Given the description of an element on the screen output the (x, y) to click on. 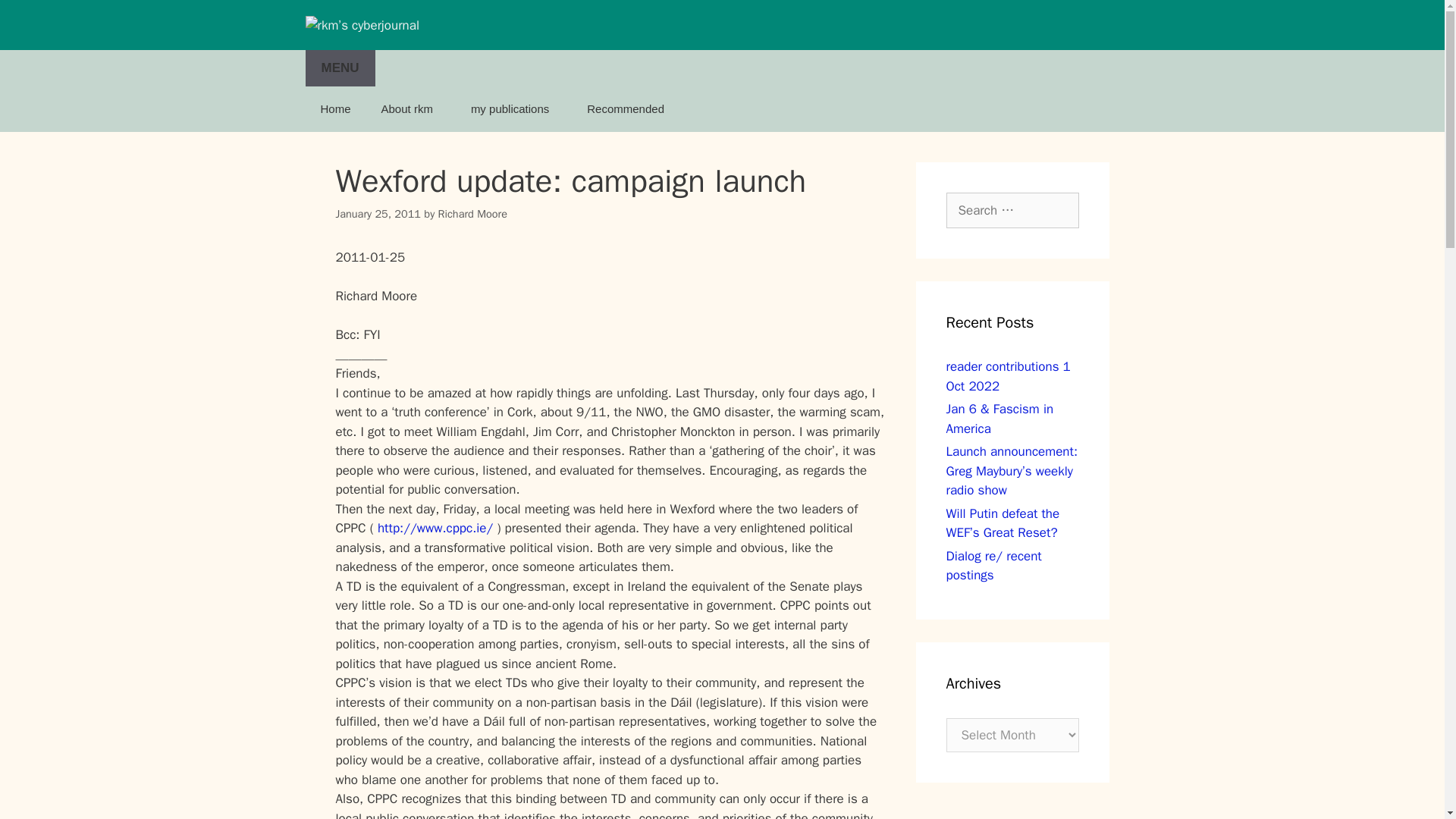
View all posts by Richard Moore (472, 213)
Search (35, 18)
Richard Moore (472, 213)
About rkm (410, 108)
Recommended (629, 108)
MENU (339, 67)
my publications (513, 108)
reader contributions 1 Oct 2022 (1008, 375)
Home (334, 108)
Search for: (1012, 210)
